Given the description of an element on the screen output the (x, y) to click on. 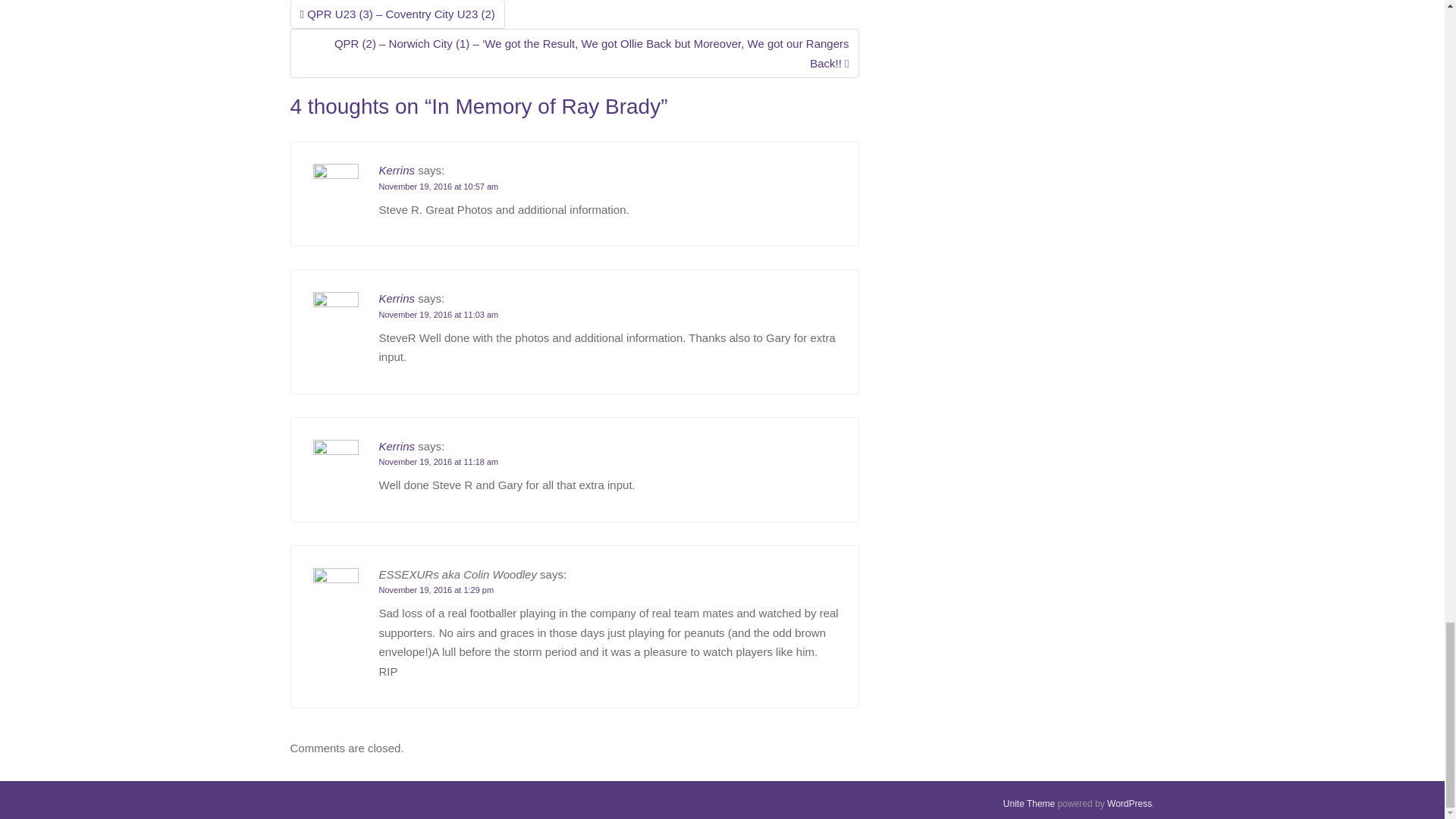
November 19, 2016 at 11:18 am (438, 461)
November 19, 2016 at 10:57 am (438, 185)
Kerrins (396, 297)
November 19, 2016 at 11:03 am (438, 314)
Unite Theme (1028, 803)
Kerrins (396, 169)
Kerrins (396, 445)
November 19, 2016 at 1:29 pm (436, 589)
